Given the description of an element on the screen output the (x, y) to click on. 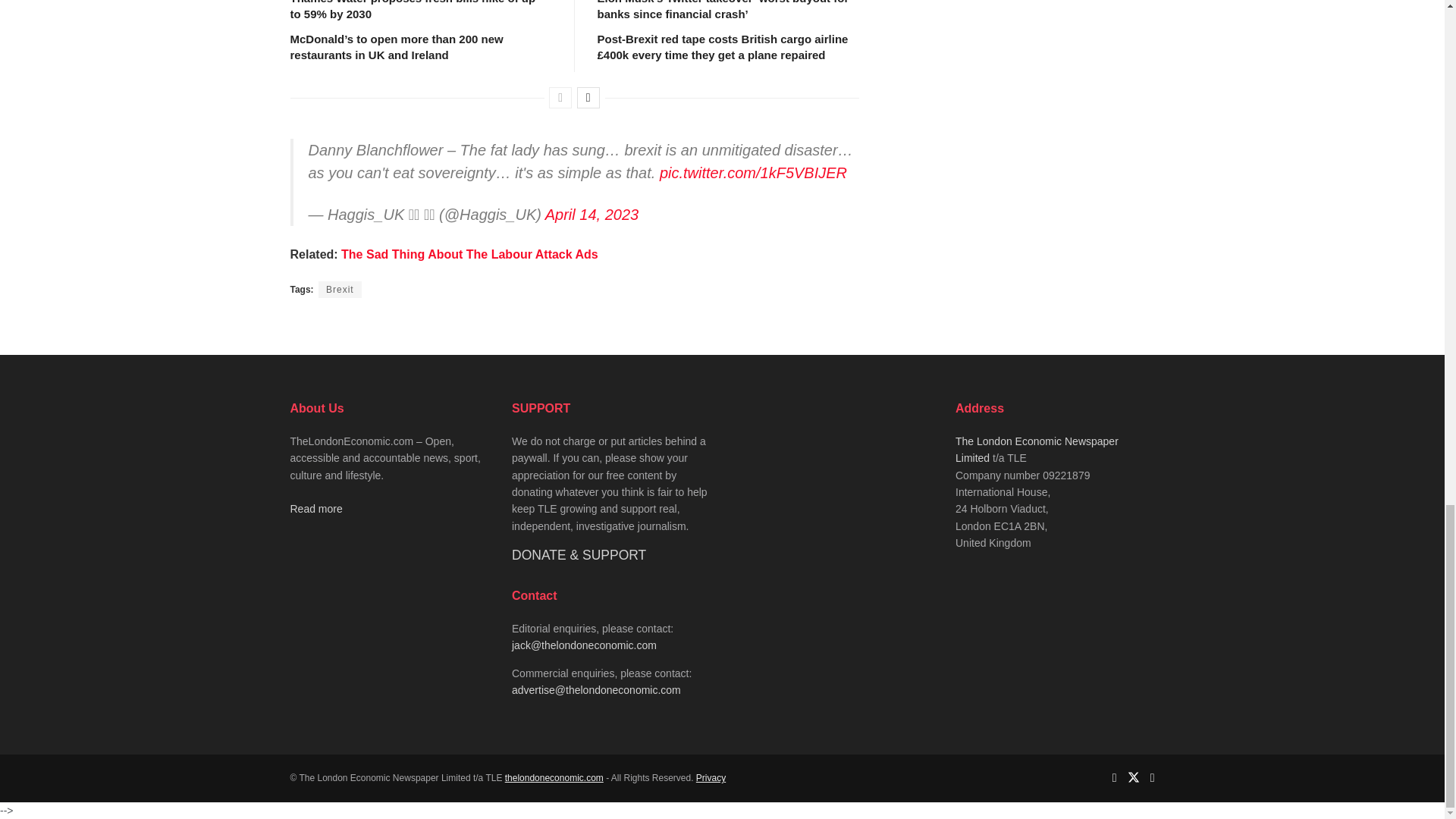
Next (587, 97)
Privacy (710, 777)
Previous (560, 97)
The London Economic (554, 777)
